Given the description of an element on the screen output the (x, y) to click on. 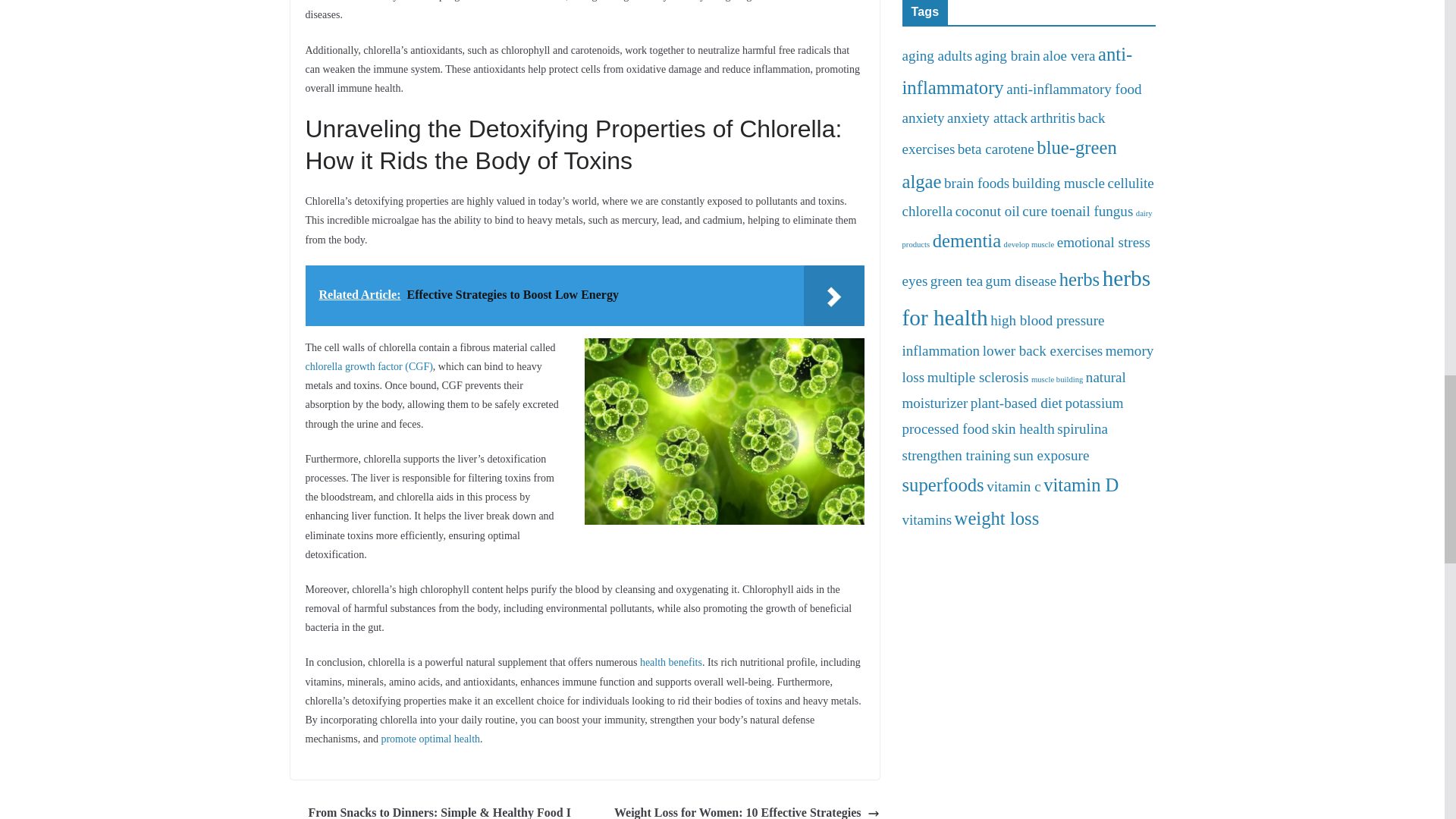
health benefits (670, 662)
Related Article:  Effective Strategies to Boost Low Energy (583, 295)
